Given the description of an element on the screen output the (x, y) to click on. 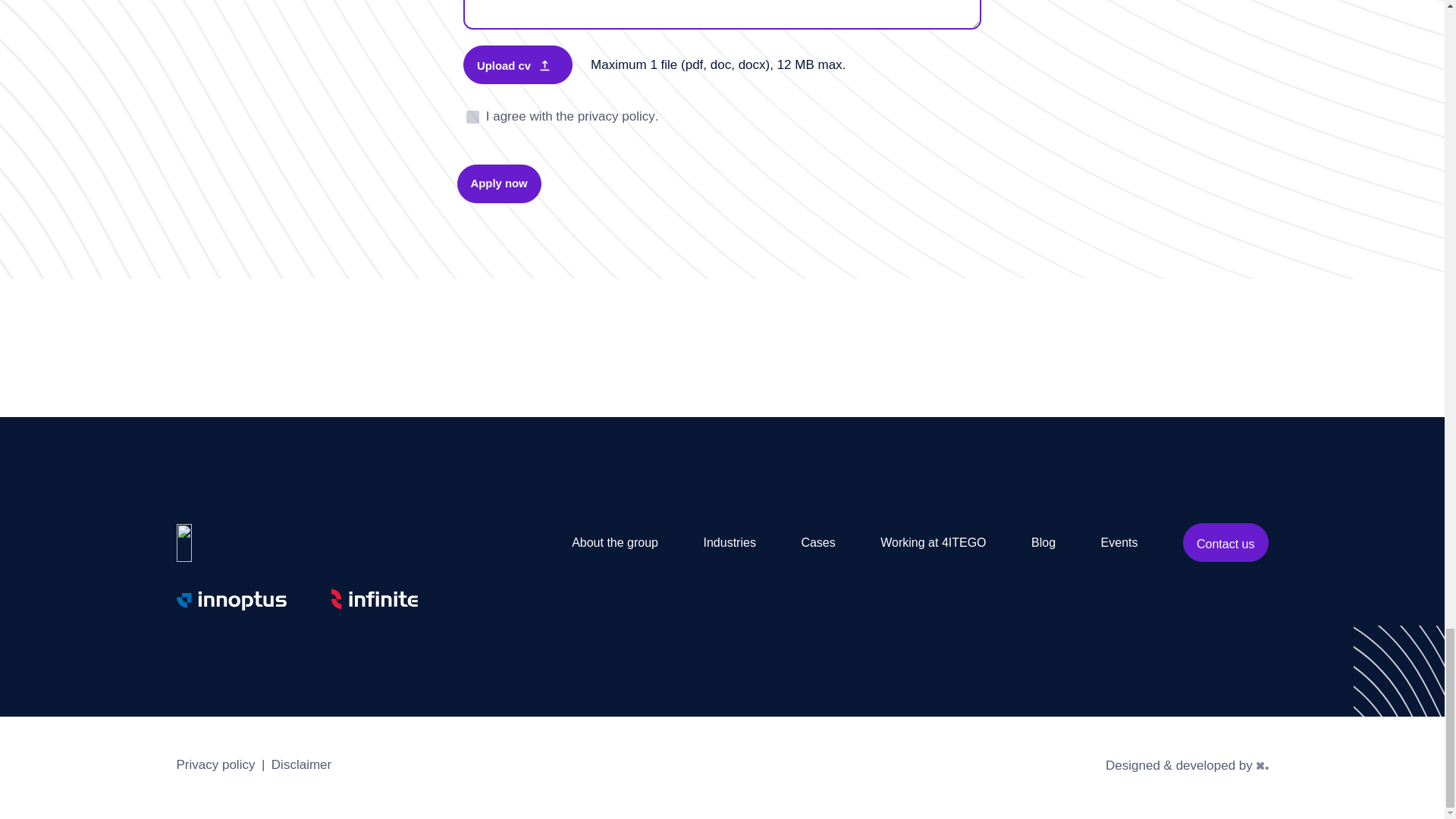
Industries (729, 542)
Working at 4ITEGO (932, 542)
About the group (615, 542)
Apply now (498, 183)
privacy policy (616, 116)
on (472, 116)
Blog (1042, 542)
Cases (817, 542)
Privacy policy (215, 767)
Contact us (1225, 542)
